Given the description of an element on the screen output the (x, y) to click on. 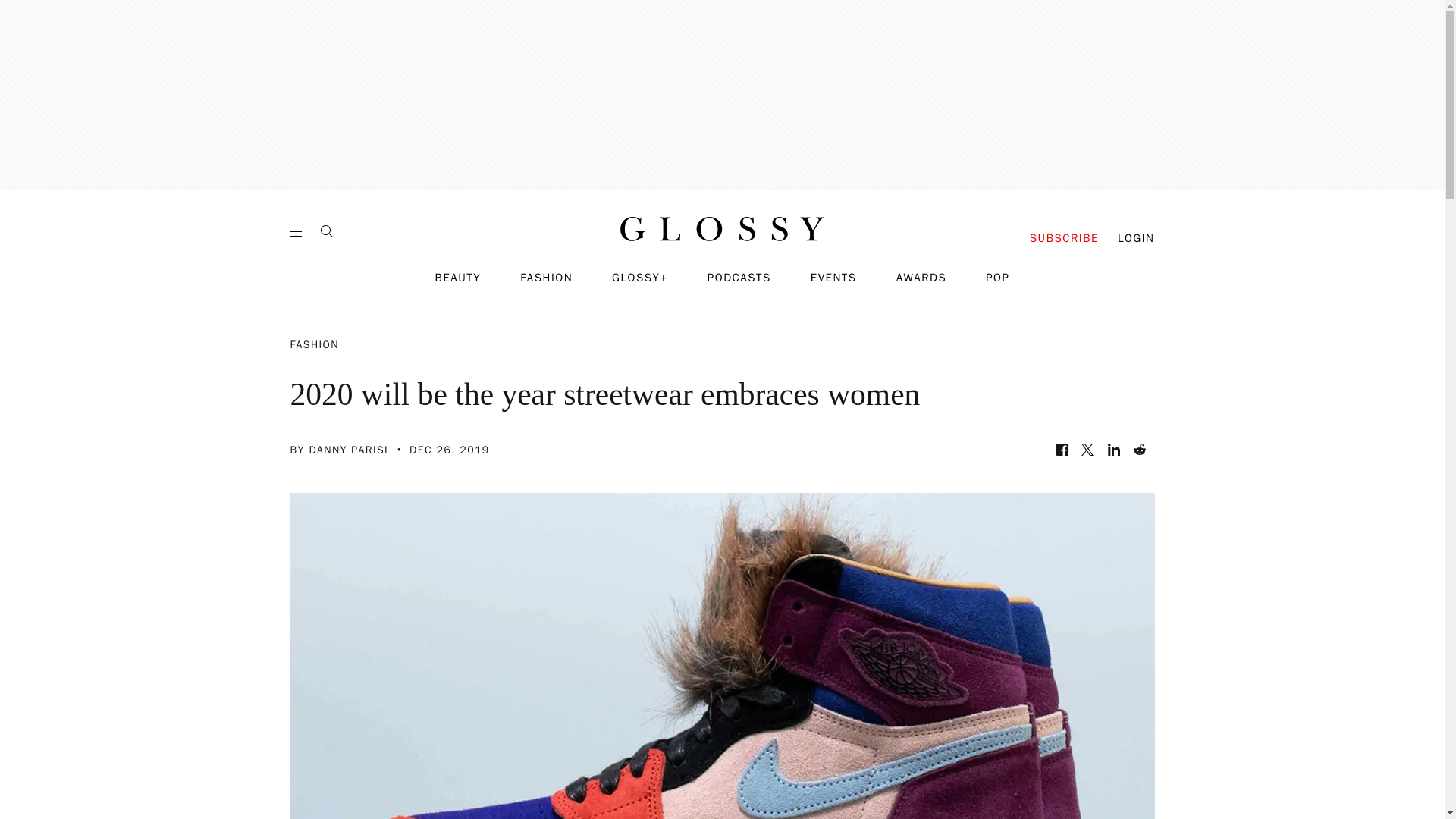
FASHION (545, 277)
POP (997, 277)
AWARDS (921, 277)
PODCASTS (739, 277)
SUBSCRIBE (1064, 238)
EVENTS (833, 277)
LOGIN (1136, 238)
BEAUTY (458, 277)
